Given the description of an element on the screen output the (x, y) to click on. 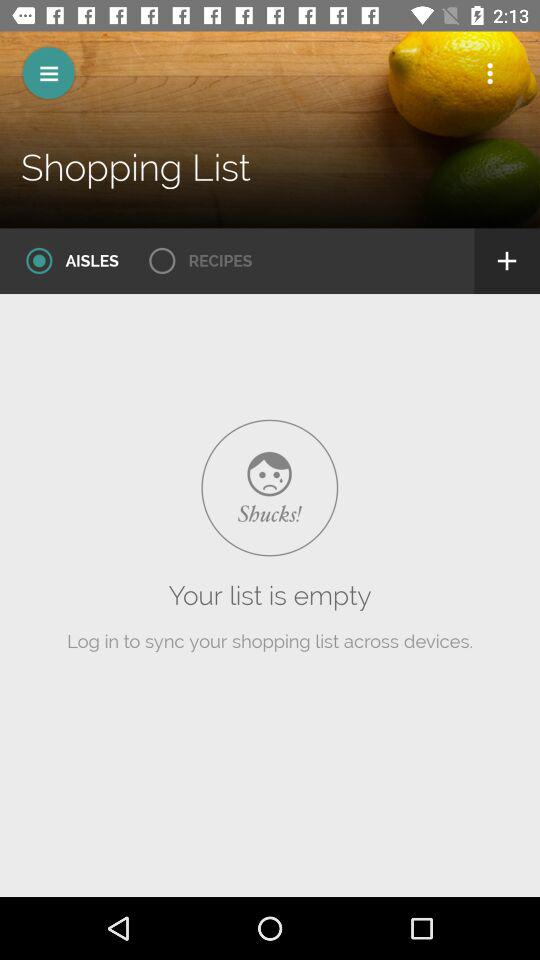
go to menu (48, 72)
